Given the description of an element on the screen output the (x, y) to click on. 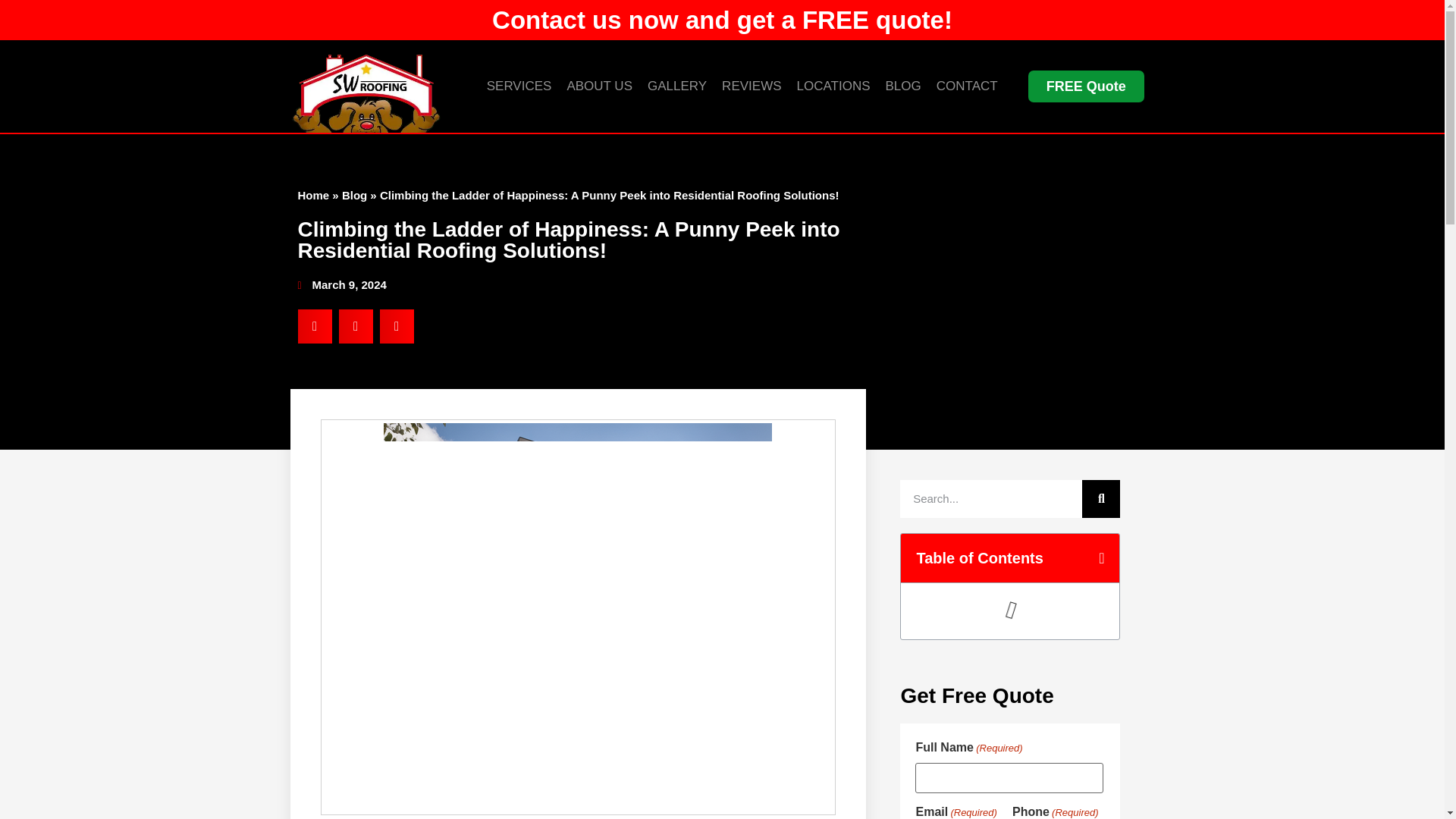
GALLERY (677, 85)
SERVICES (519, 85)
Contact us now and get a FREE quote! (722, 19)
CONTACT (967, 85)
BLOG (902, 85)
ABOUT US (599, 85)
REVIEWS (751, 85)
FREE Quote (1085, 86)
LOCATIONS (833, 85)
